Given the description of an element on the screen output the (x, y) to click on. 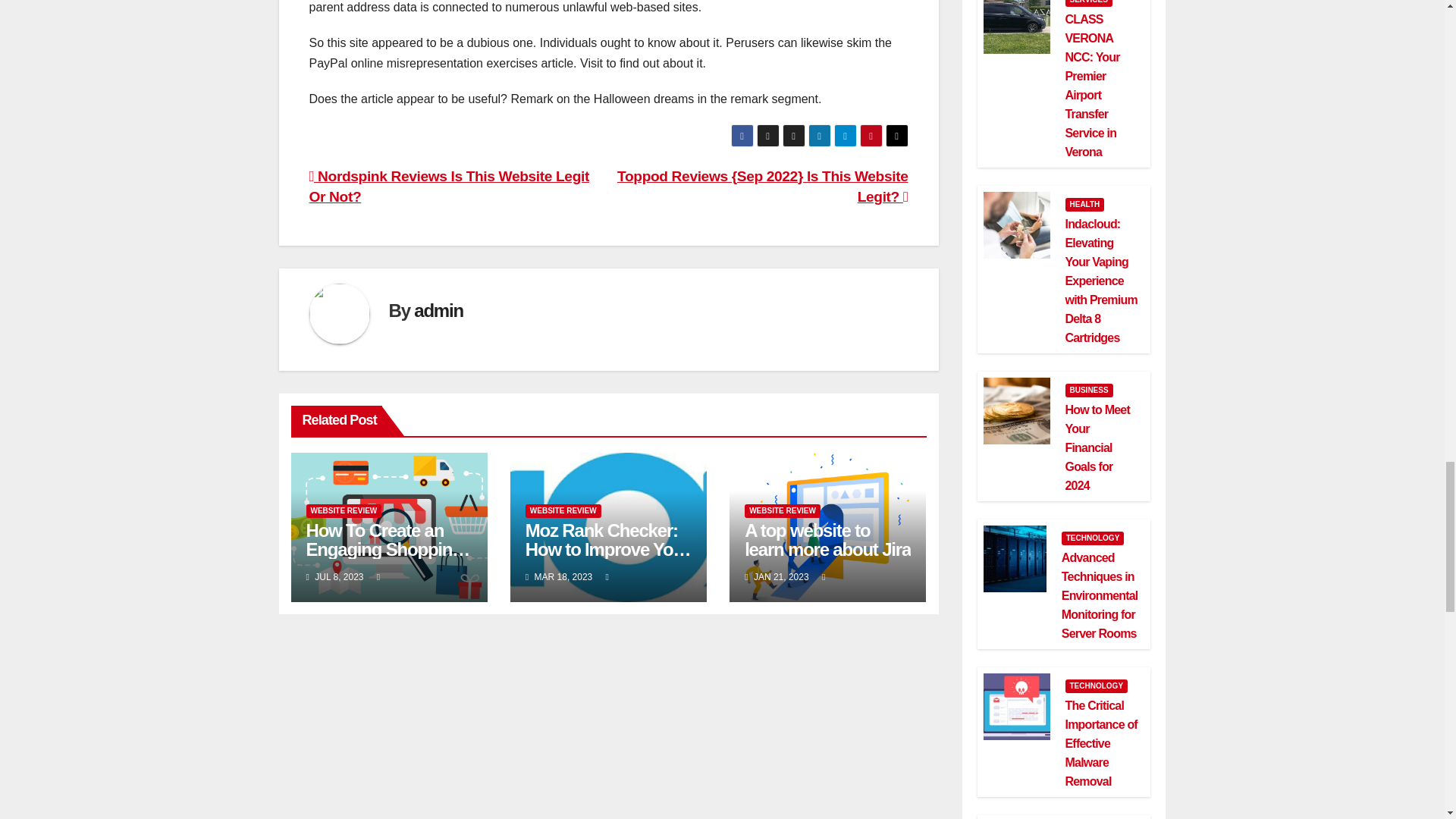
WEBSITE REVIEW (563, 510)
Permalink to: A top website to learn more about Jira (827, 539)
admin (438, 310)
A top website to learn more about Jira (827, 539)
Nordspink Reviews Is This Website Legit Or Not? (448, 186)
WEBSITE REVIEW (343, 510)
WEBSITE REVIEW (782, 510)
